Given the description of an element on the screen output the (x, y) to click on. 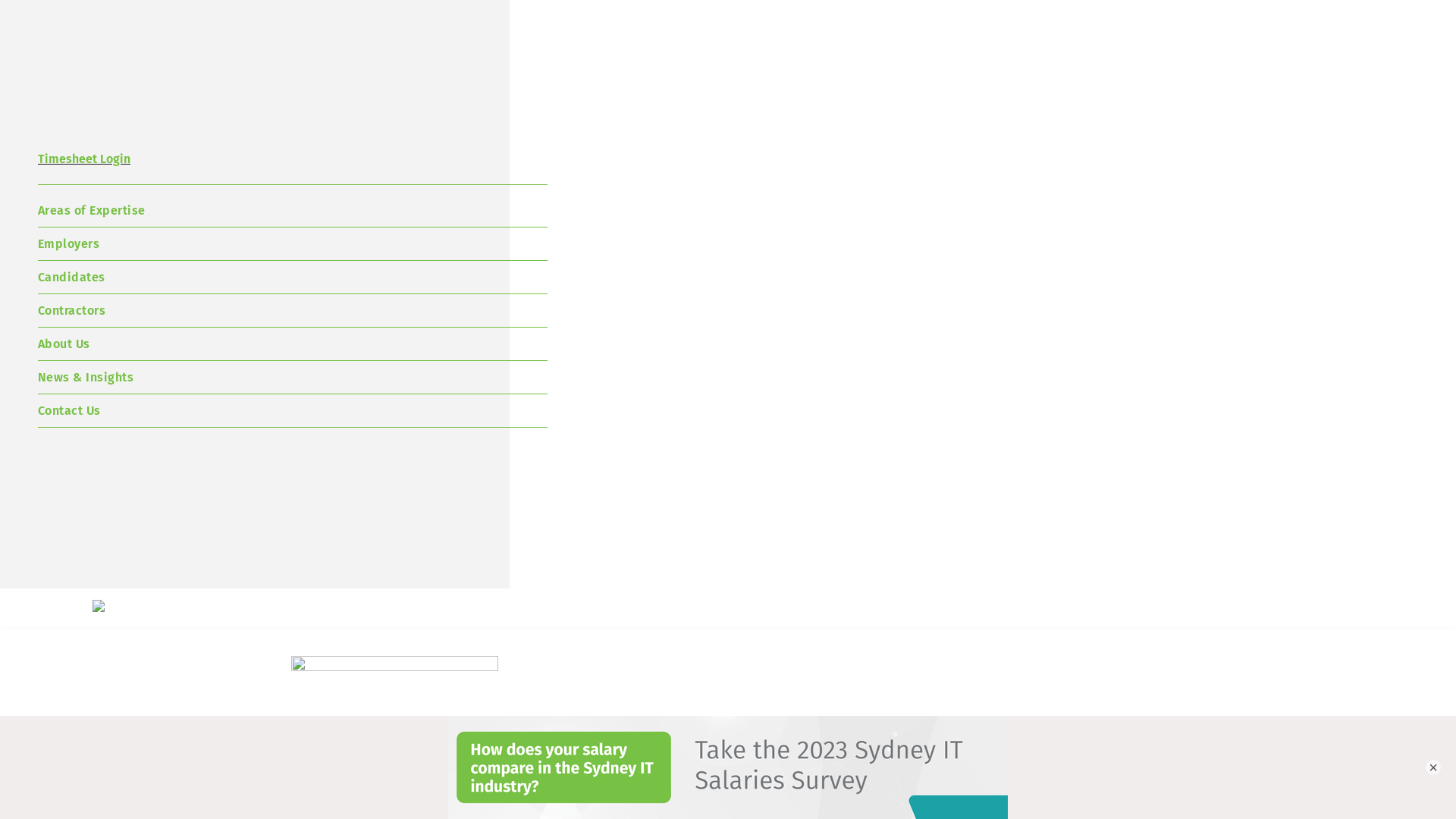
Timesheet Login Element type: text (292, 167)
Contact Us Element type: text (292, 410)
Contractors Element type: text (292, 310)
Areas of Expertise Element type: text (292, 210)
About Us Element type: text (292, 343)
Employers Element type: text (292, 243)
News & Insights Element type: text (292, 376)
Candidates Element type: text (292, 276)
(02) 8096 8600 Element type: text (679, 735)
